Given the description of an element on the screen output the (x, y) to click on. 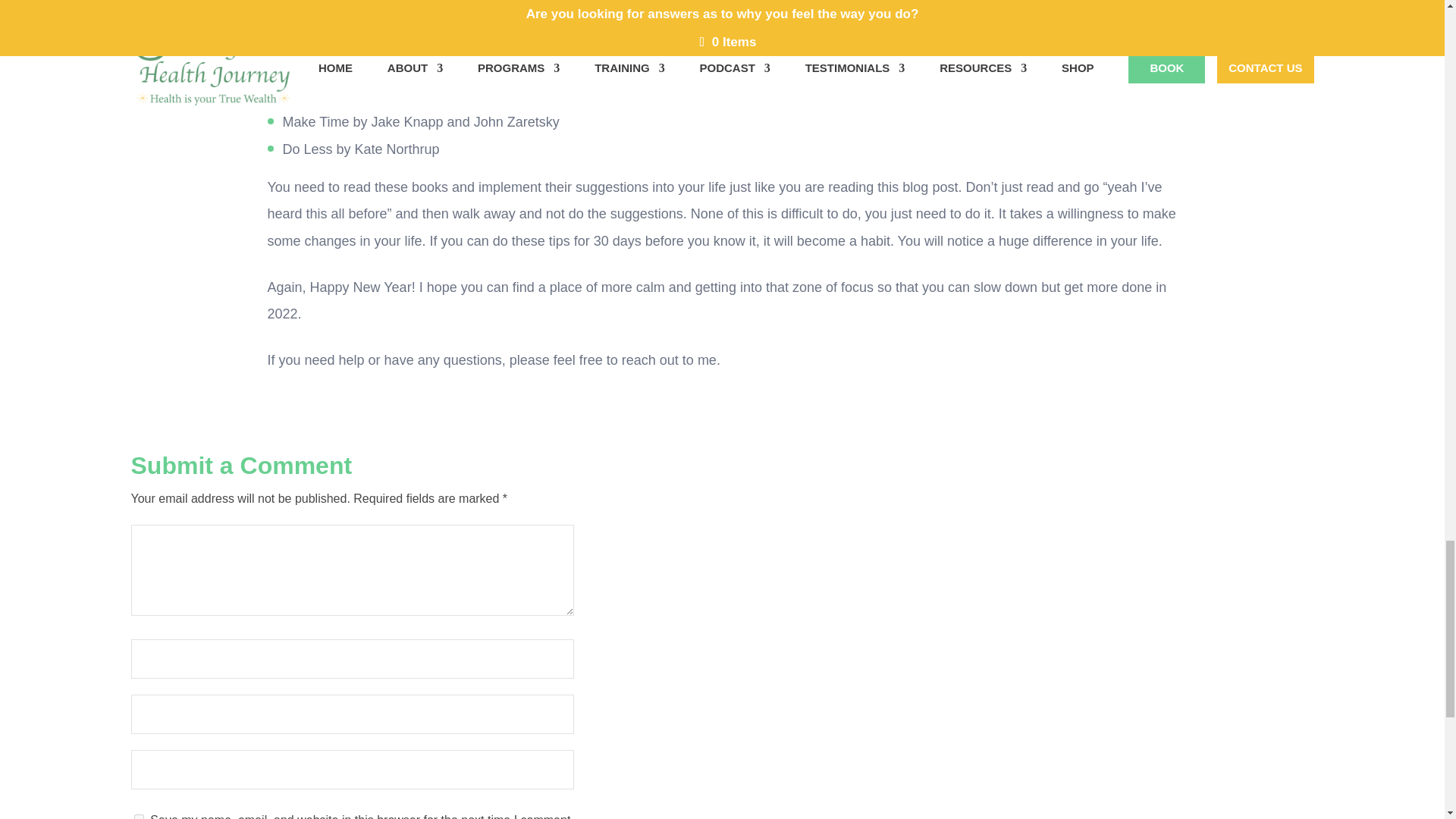
yes (137, 816)
